Given the description of an element on the screen output the (x, y) to click on. 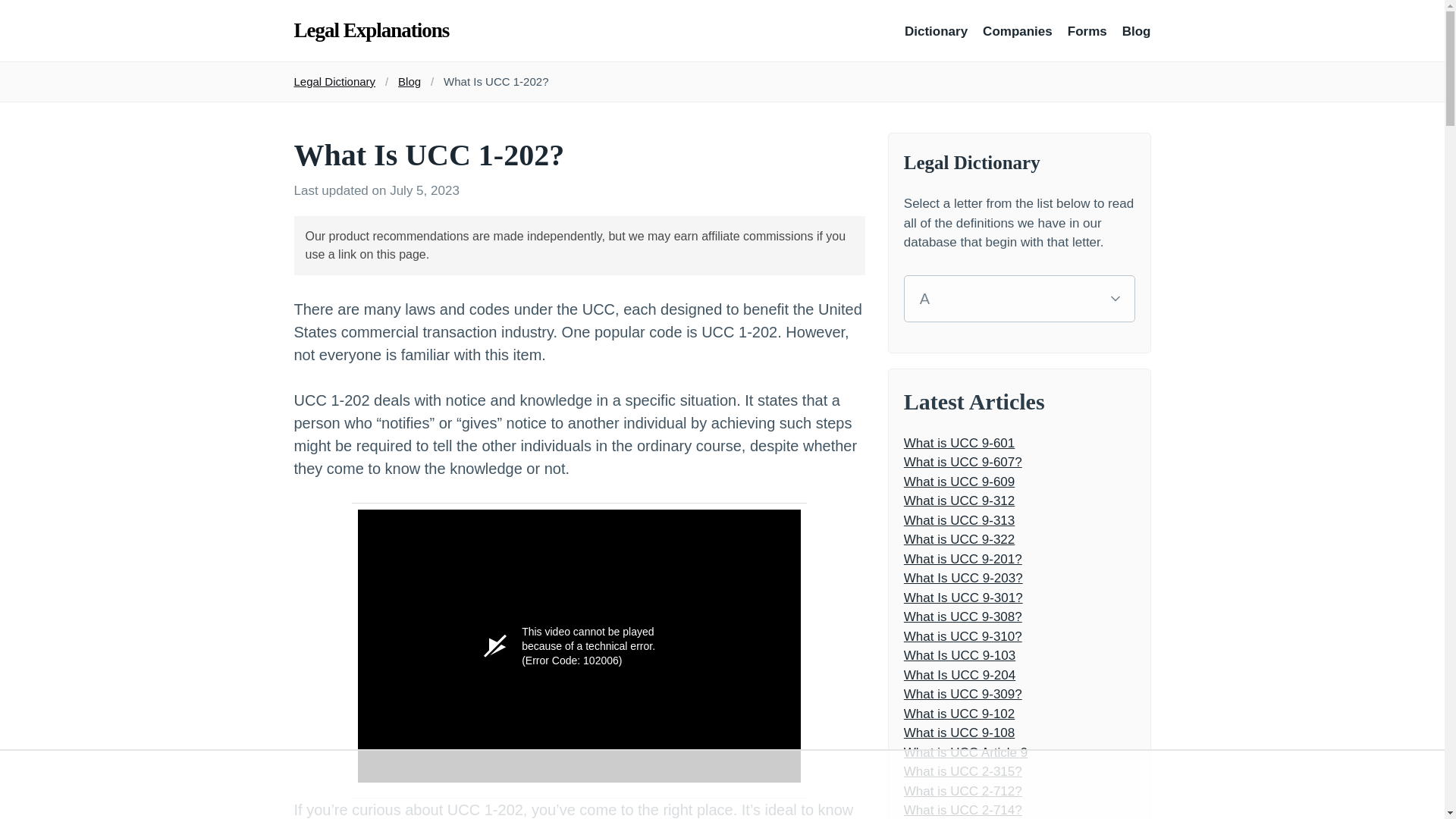
Legal Dictionary (335, 81)
What is UCC 9-308? (1019, 617)
What is UCC 9-309? (1019, 694)
Dictionary (935, 31)
Legal Explanations (371, 30)
What is UCC Article 9 (1019, 752)
What is UCC 9-201? (1019, 558)
What is UCC 9-102 (1019, 713)
What is UCC 9-312 (1019, 501)
What is UCC 2-712? (1019, 790)
What is UCC 9-310? (1019, 636)
What is UCC 9-313 (1019, 520)
What Is UCC 9-301? (1019, 598)
Blog (1136, 31)
What Is UCC 9-204 (1019, 675)
